Given the description of an element on the screen output the (x, y) to click on. 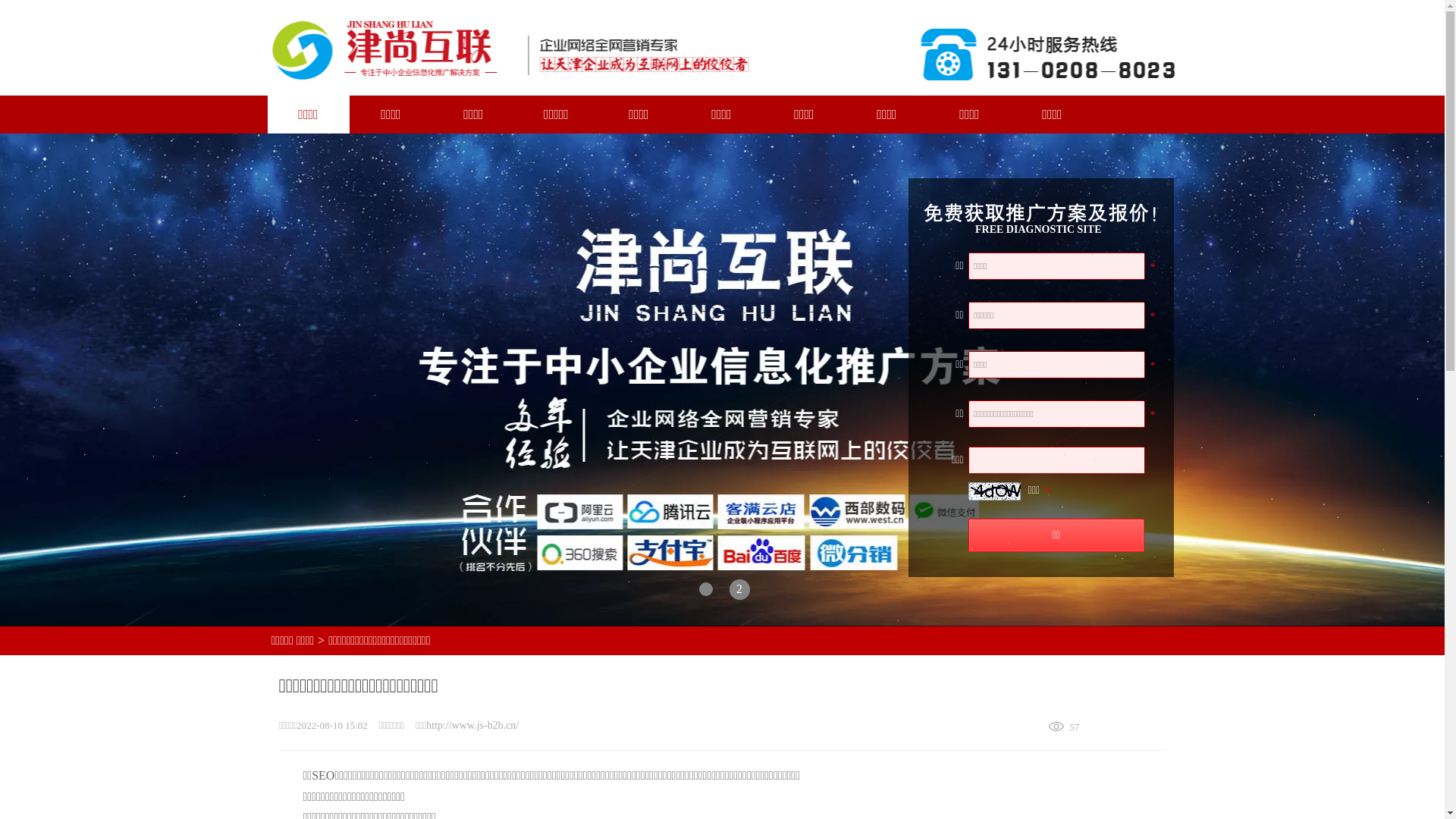
http://www.js-b2b.cn/ Element type: text (472, 725)
